Given the description of an element on the screen output the (x, y) to click on. 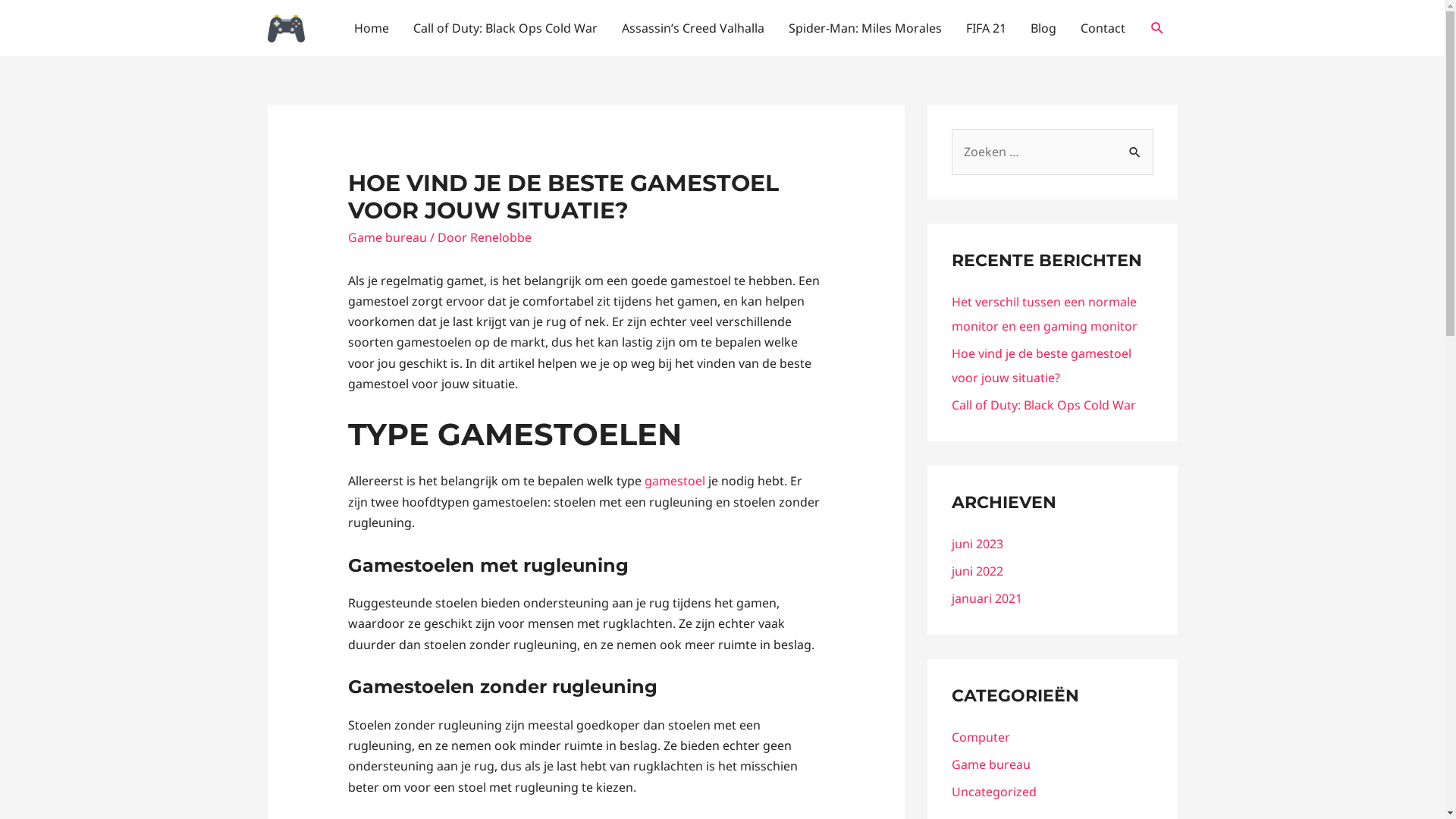
Uncategorized Element type: text (992, 791)
Contact Element type: text (1101, 27)
Game bureau Element type: text (989, 764)
Renelobbe Element type: text (500, 237)
Call of Duty: Black Ops Cold War Element type: text (504, 27)
Spider-Man: Miles Morales Element type: text (864, 27)
Zoeken Element type: text (1136, 144)
januari 2021 Element type: text (985, 597)
Computer Element type: text (979, 736)
FIFA 21 Element type: text (985, 27)
Home Element type: text (370, 27)
gamestoel Element type: text (674, 480)
Hoe vind je de beste gamestoel voor jouw situatie? Element type: text (1040, 365)
Game bureau Element type: text (387, 237)
Blog Element type: text (1042, 27)
Call of Duty: Black Ops Cold War Element type: text (1042, 404)
juni 2023 Element type: text (976, 543)
juni 2022 Element type: text (976, 570)
